Given the description of an element on the screen output the (x, y) to click on. 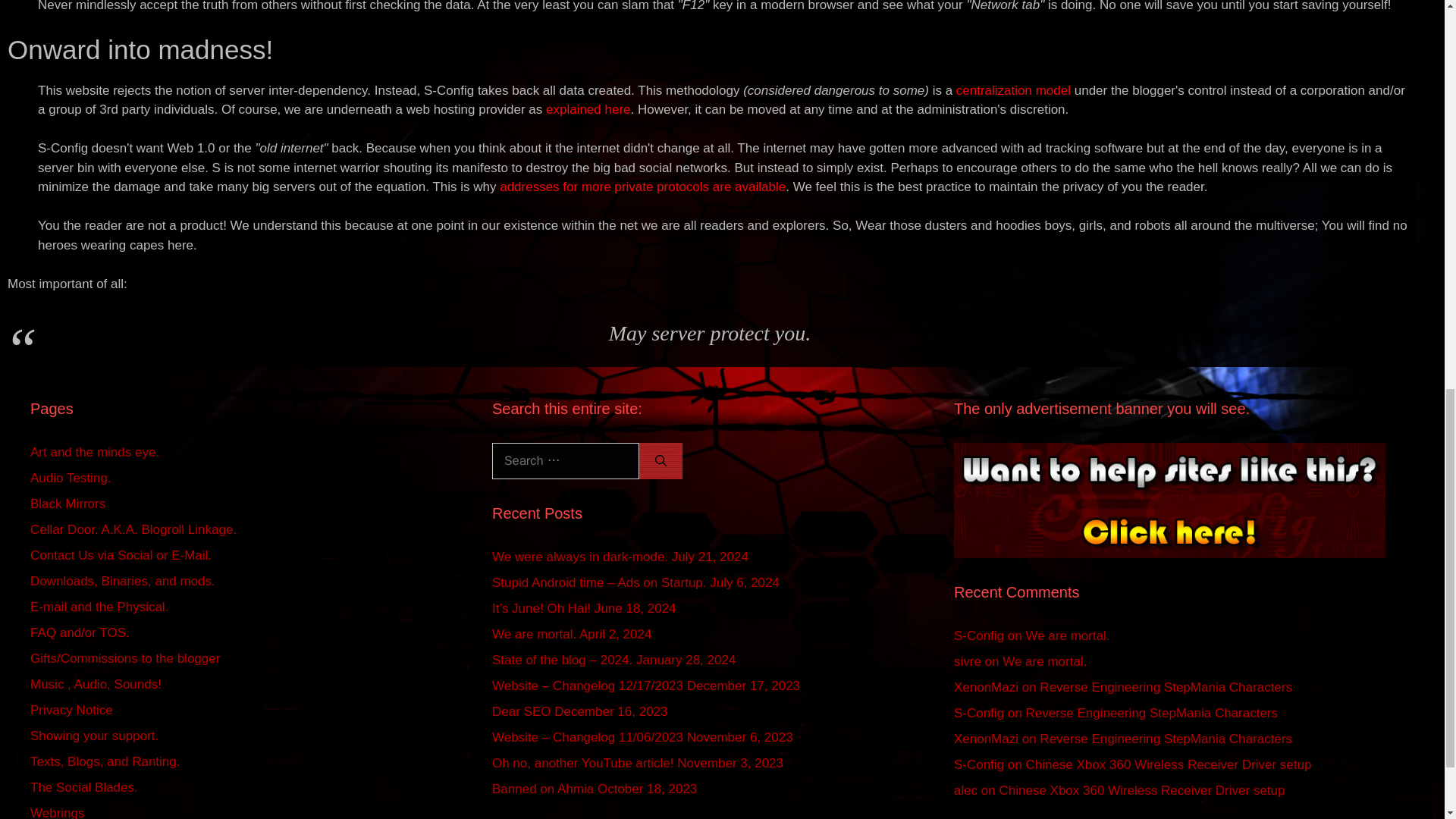
explained here (588, 109)
Search for: (565, 461)
centralization model (1013, 90)
addresses for more private protocols are available (642, 186)
